Given the description of an element on the screen output the (x, y) to click on. 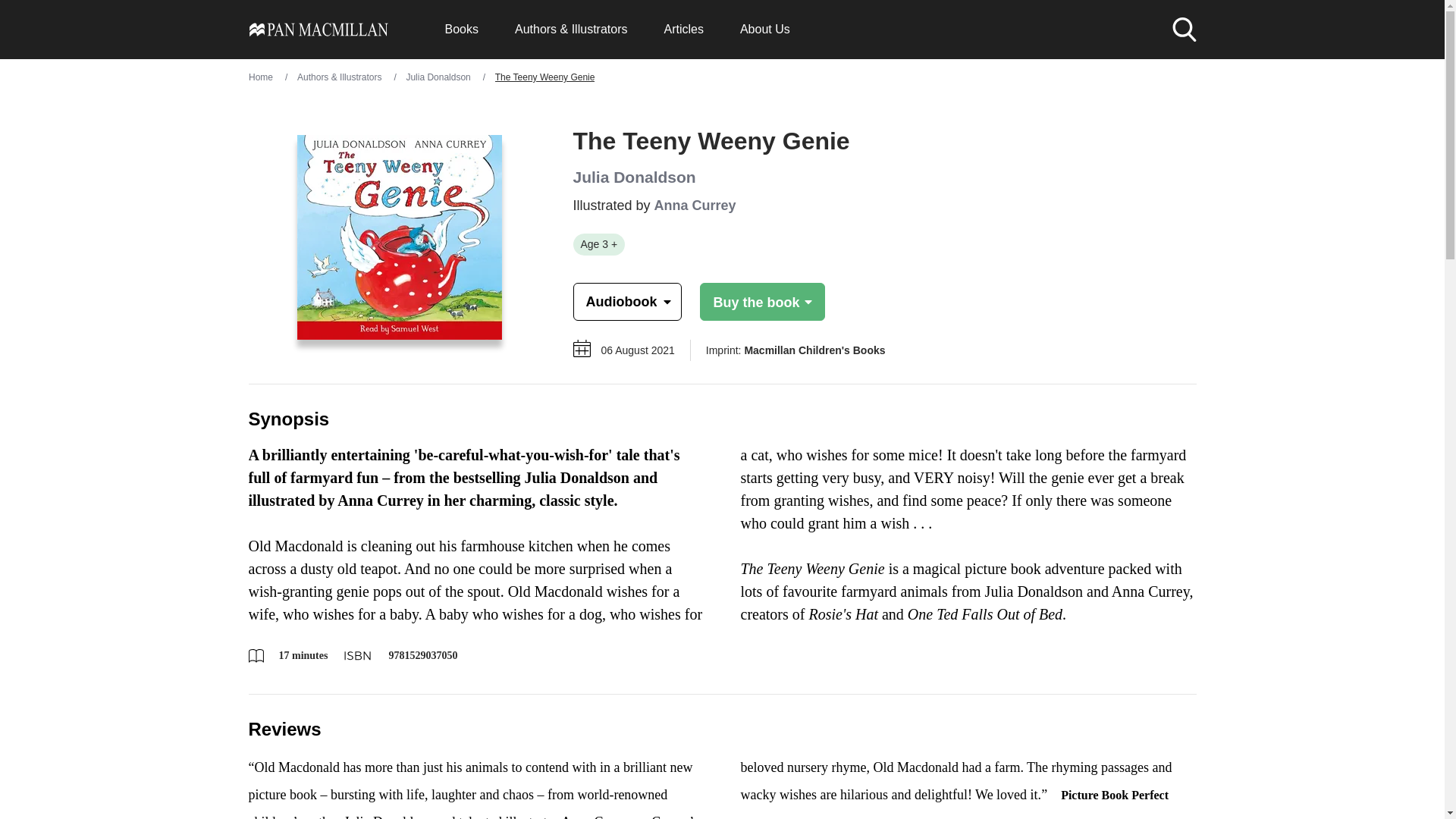
Books (460, 29)
